Given the description of an element on the screen output the (x, y) to click on. 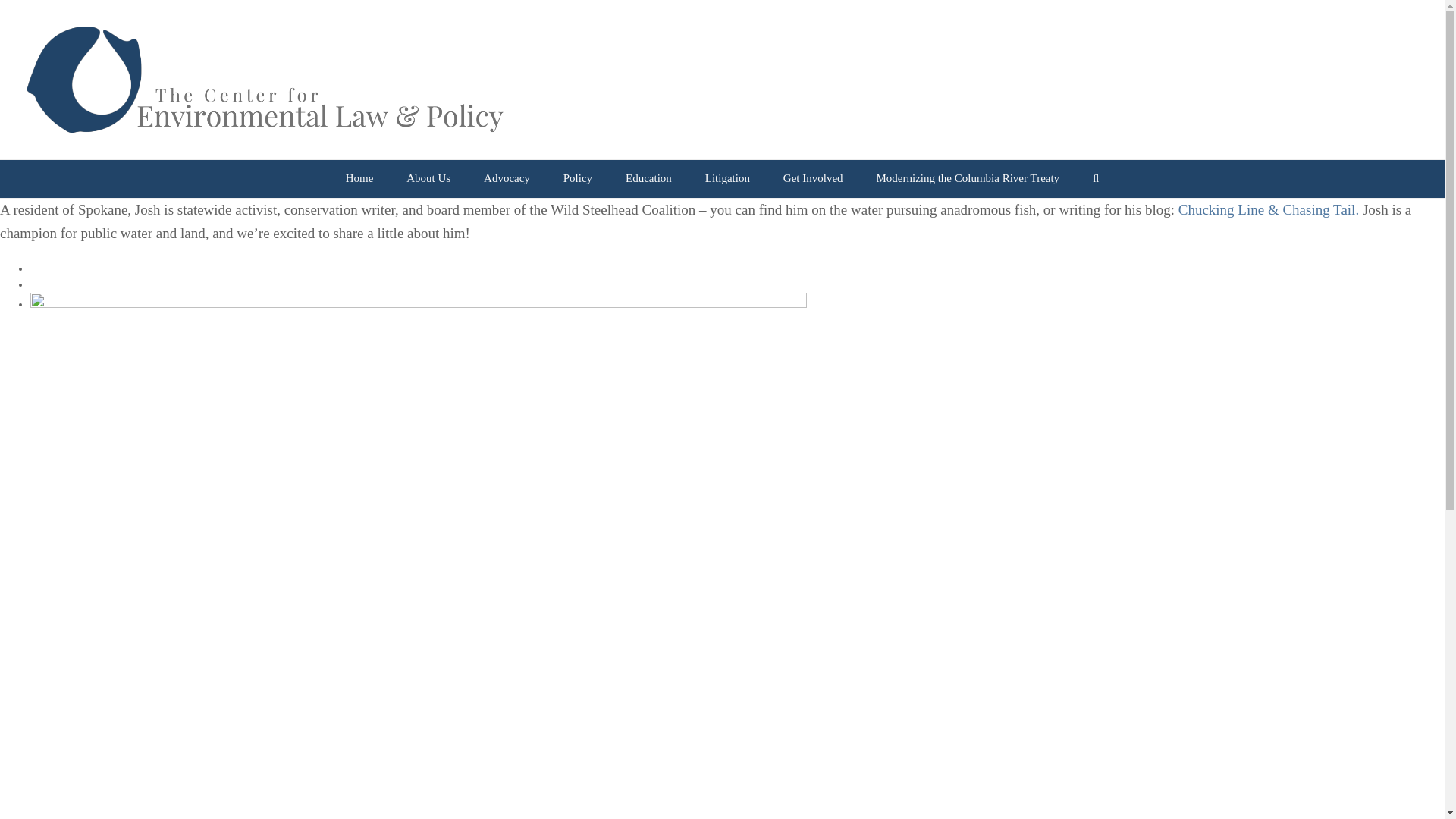
Get Involved (813, 178)
About Us (428, 178)
Modernizing the Columbia River Treaty (967, 178)
Home (359, 178)
Advocacy (506, 178)
Policy (577, 178)
Litigation (727, 178)
Education (648, 178)
